Given the description of an element on the screen output the (x, y) to click on. 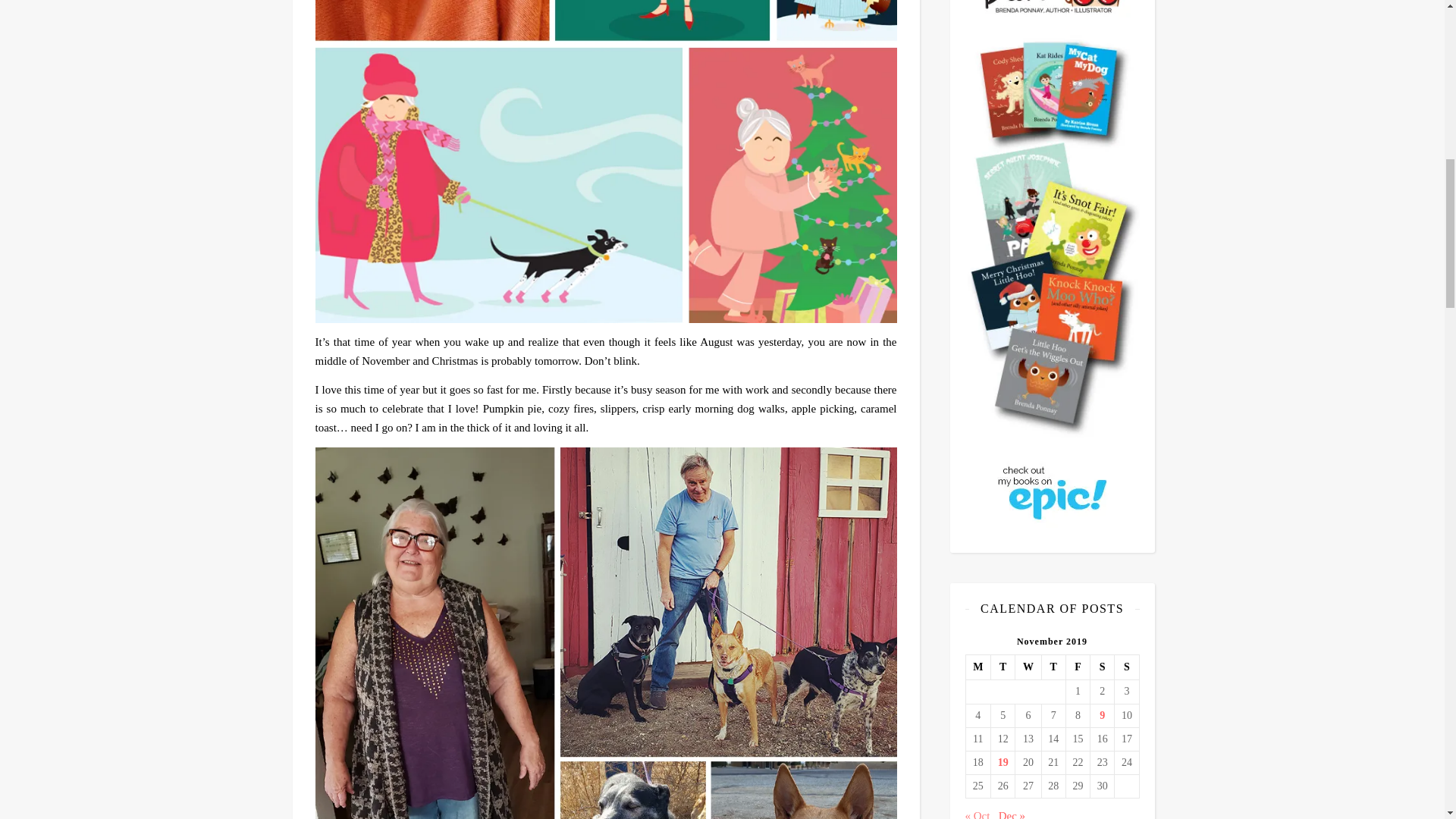
Wednesday (1027, 667)
Thursday (1053, 667)
Friday (1077, 667)
Sunday (1126, 667)
Saturday (1102, 667)
Monday (978, 667)
Tuesday (1002, 667)
